Given the description of an element on the screen output the (x, y) to click on. 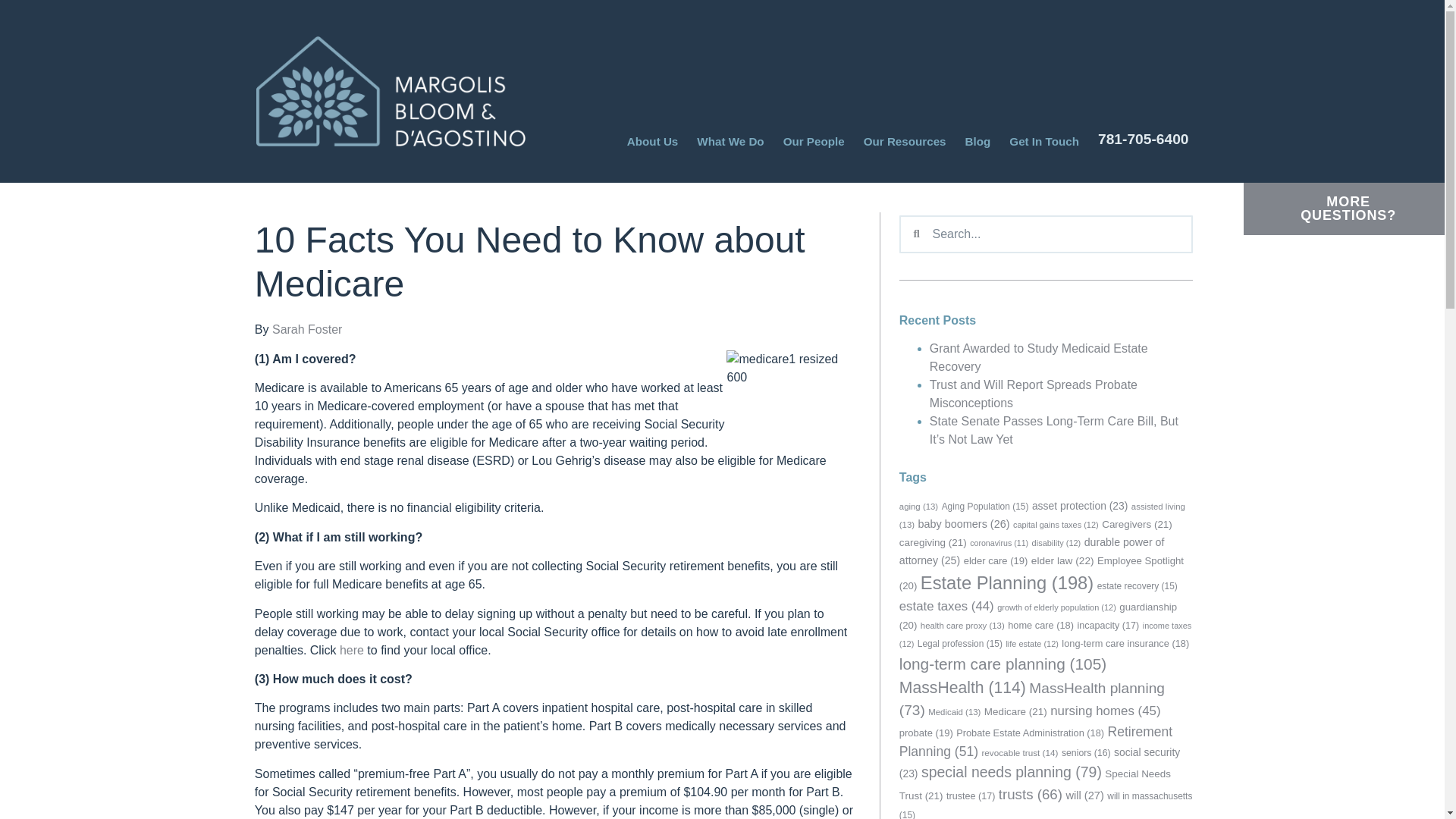
Our People (813, 141)
Our Resources (904, 141)
About Us (652, 141)
What We Do (729, 141)
10 Facts You Need to Know about Medicare (789, 397)
Sarah Foster (307, 328)
here (351, 649)
Get In Touch (1043, 141)
